Given the description of an element on the screen output the (x, y) to click on. 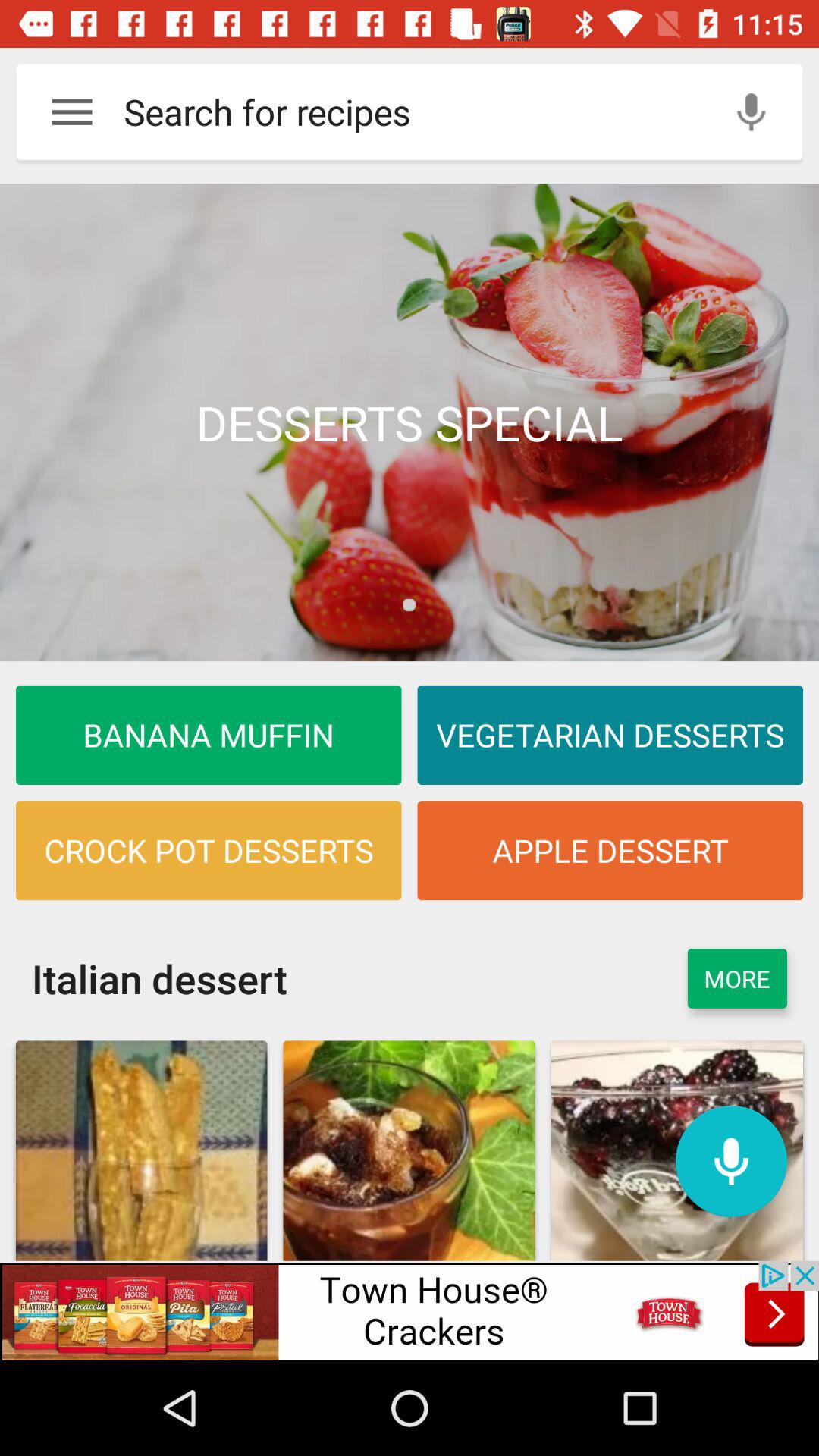
use microphone to type the words (751, 111)
